Given the description of an element on the screen output the (x, y) to click on. 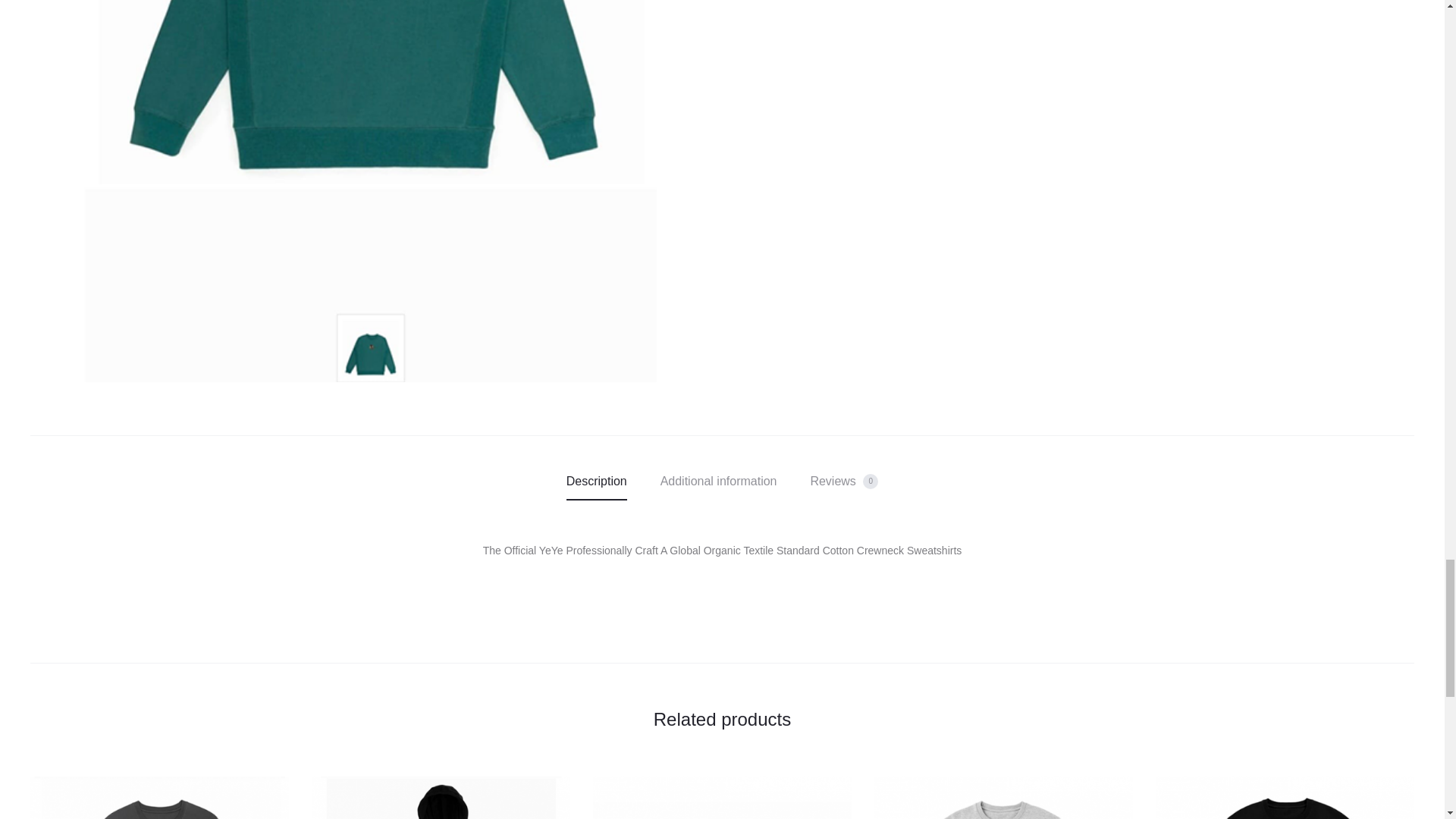
Additional information (719, 481)
Description (596, 481)
